Given the description of an element on the screen output the (x, y) to click on. 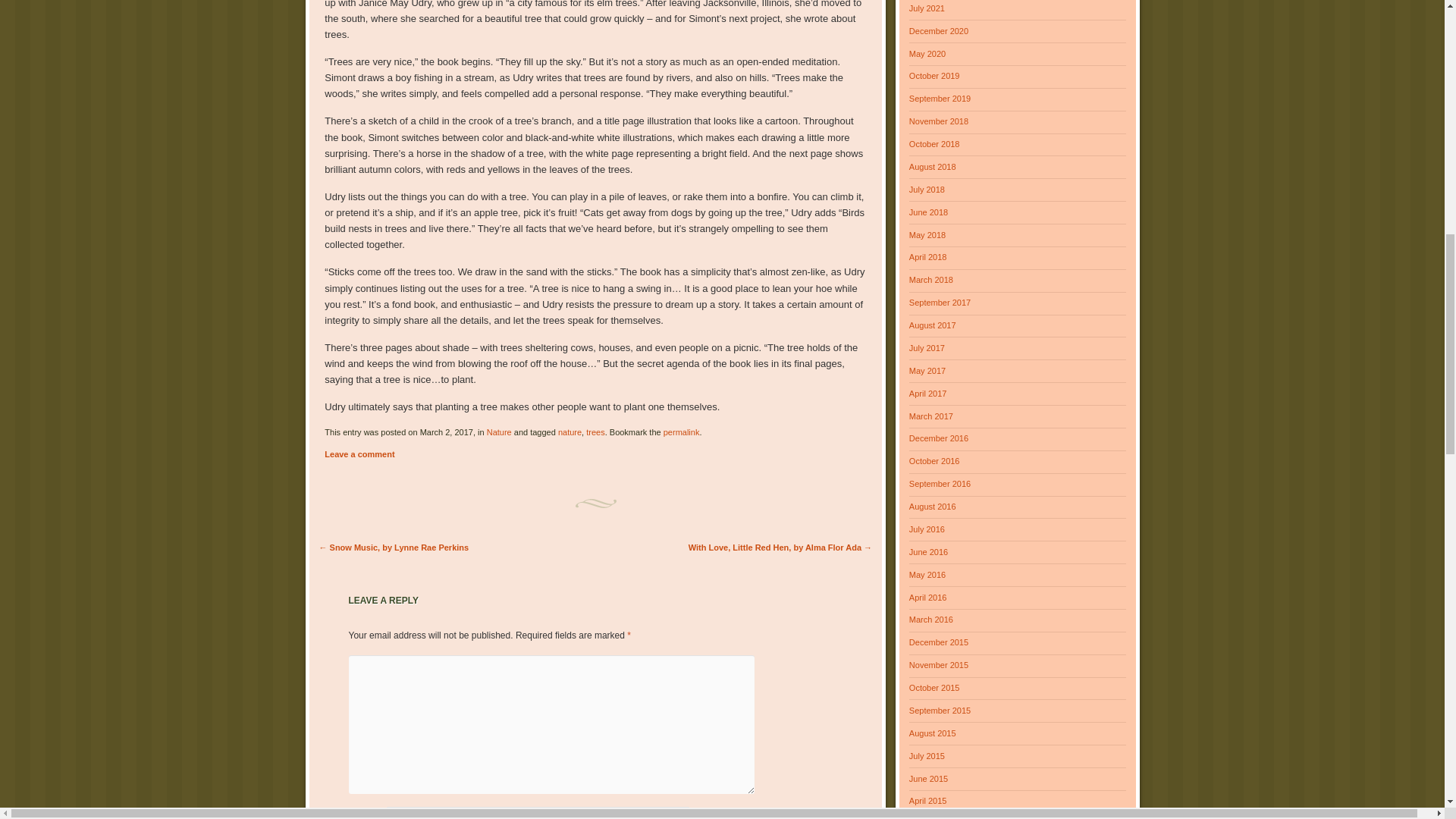
Leave a comment (359, 453)
permalink (681, 431)
Nature (499, 431)
trees (595, 431)
July 2021 (926, 8)
Permalink to A Tree is Nice by Janice May Udry (681, 431)
nature (568, 431)
